Given the description of an element on the screen output the (x, y) to click on. 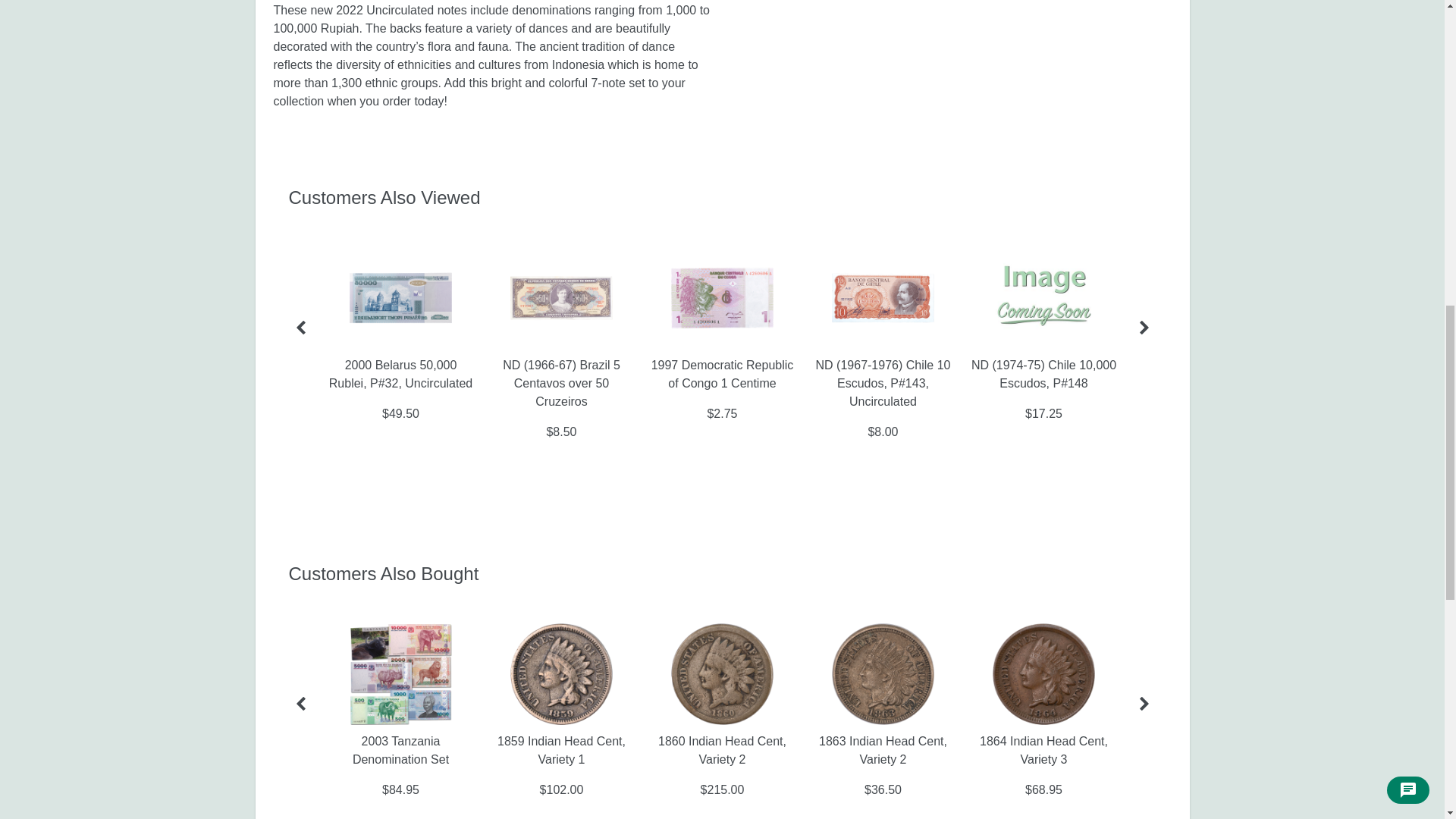
Customers Also Viewed (722, 197)
1997 Democratic Republic of Congo 1 Centime (722, 297)
1997 Democratic Republic of Congo 1 Centime (721, 373)
